Given the description of an element on the screen output the (x, y) to click on. 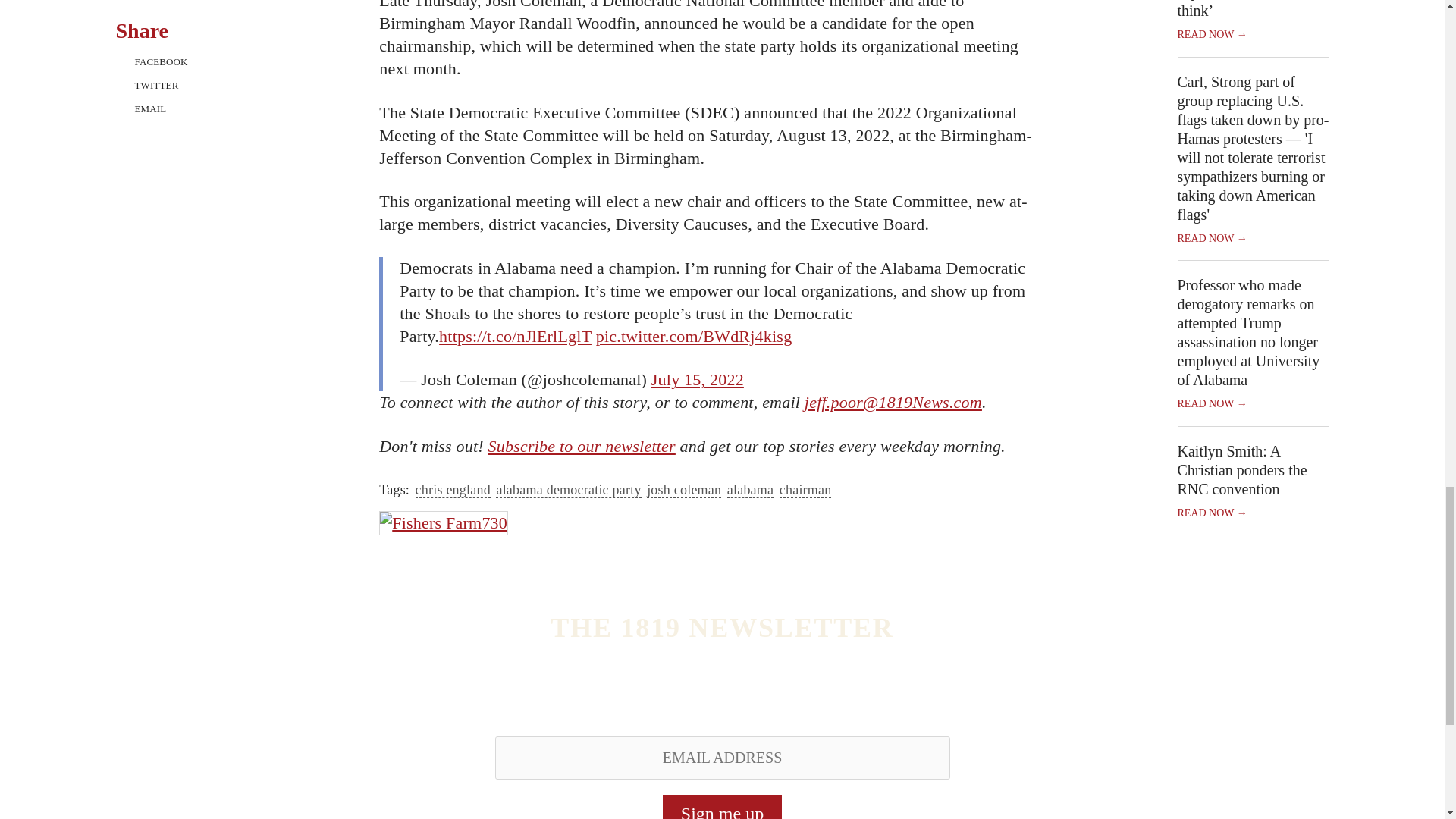
Fishers Farm730 (443, 523)
